Given the description of an element on the screen output the (x, y) to click on. 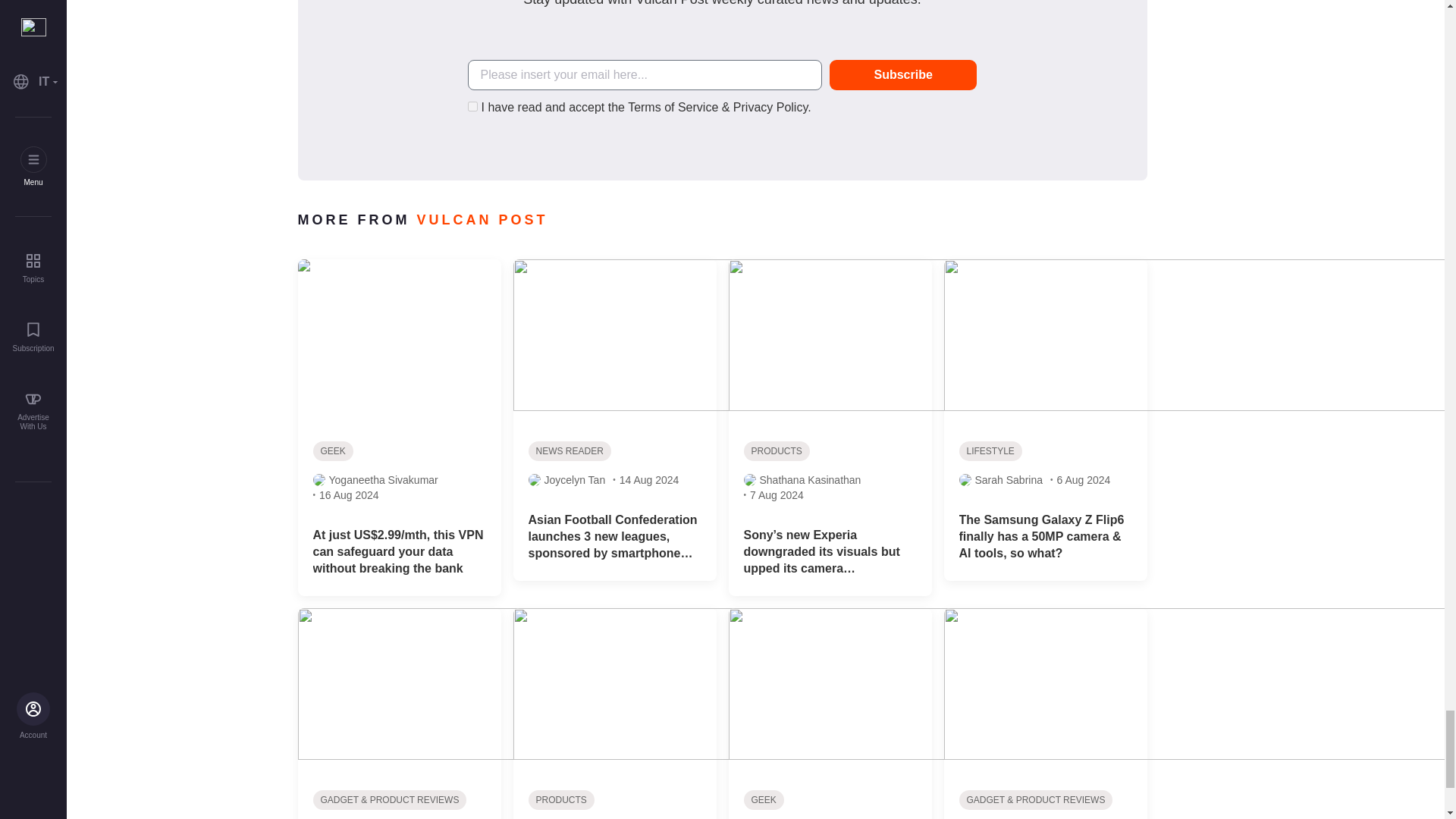
Subscribe (902, 74)
on (472, 106)
